Given the description of an element on the screen output the (x, y) to click on. 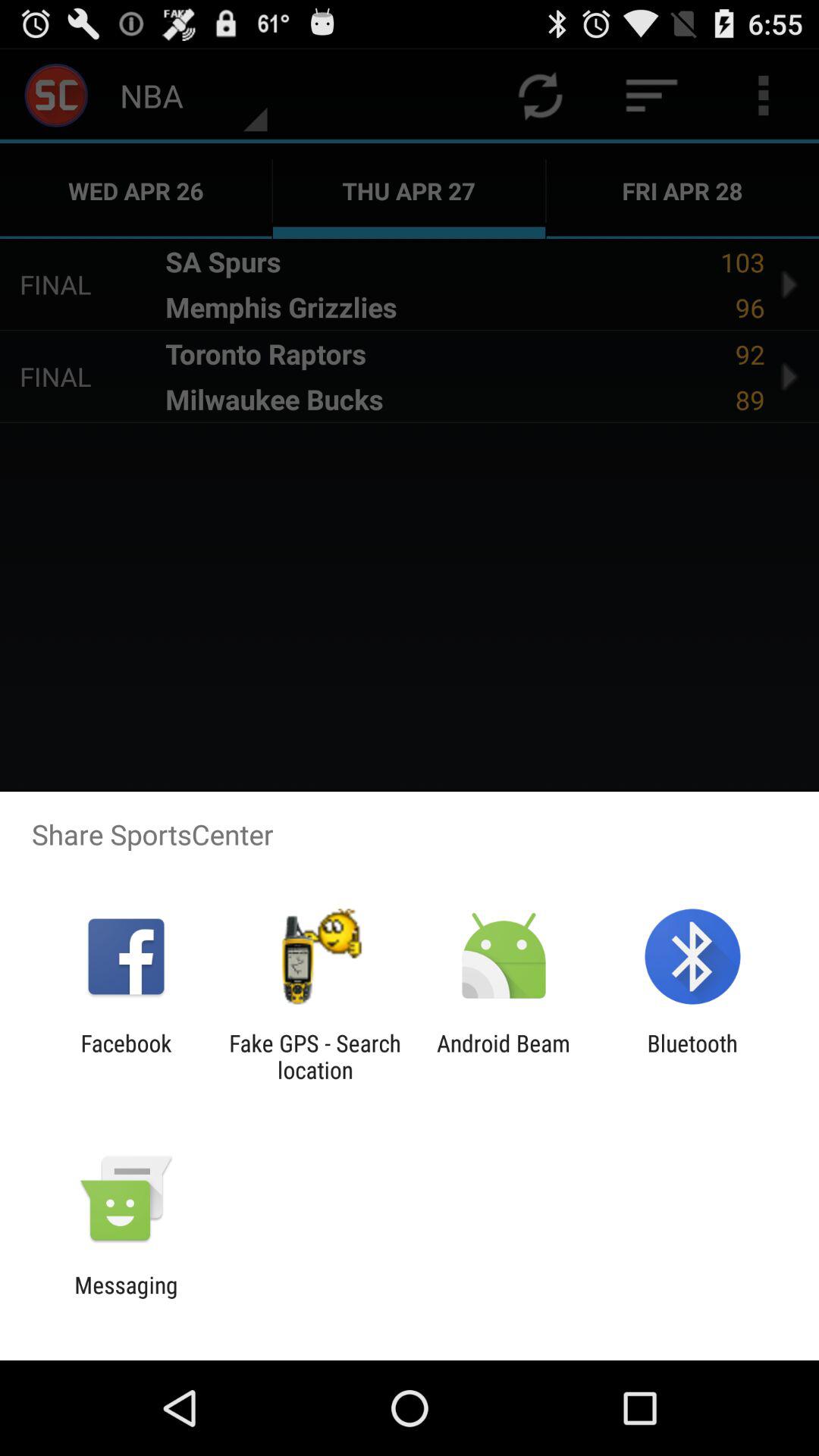
swipe to the bluetooth app (692, 1056)
